Given the description of an element on the screen output the (x, y) to click on. 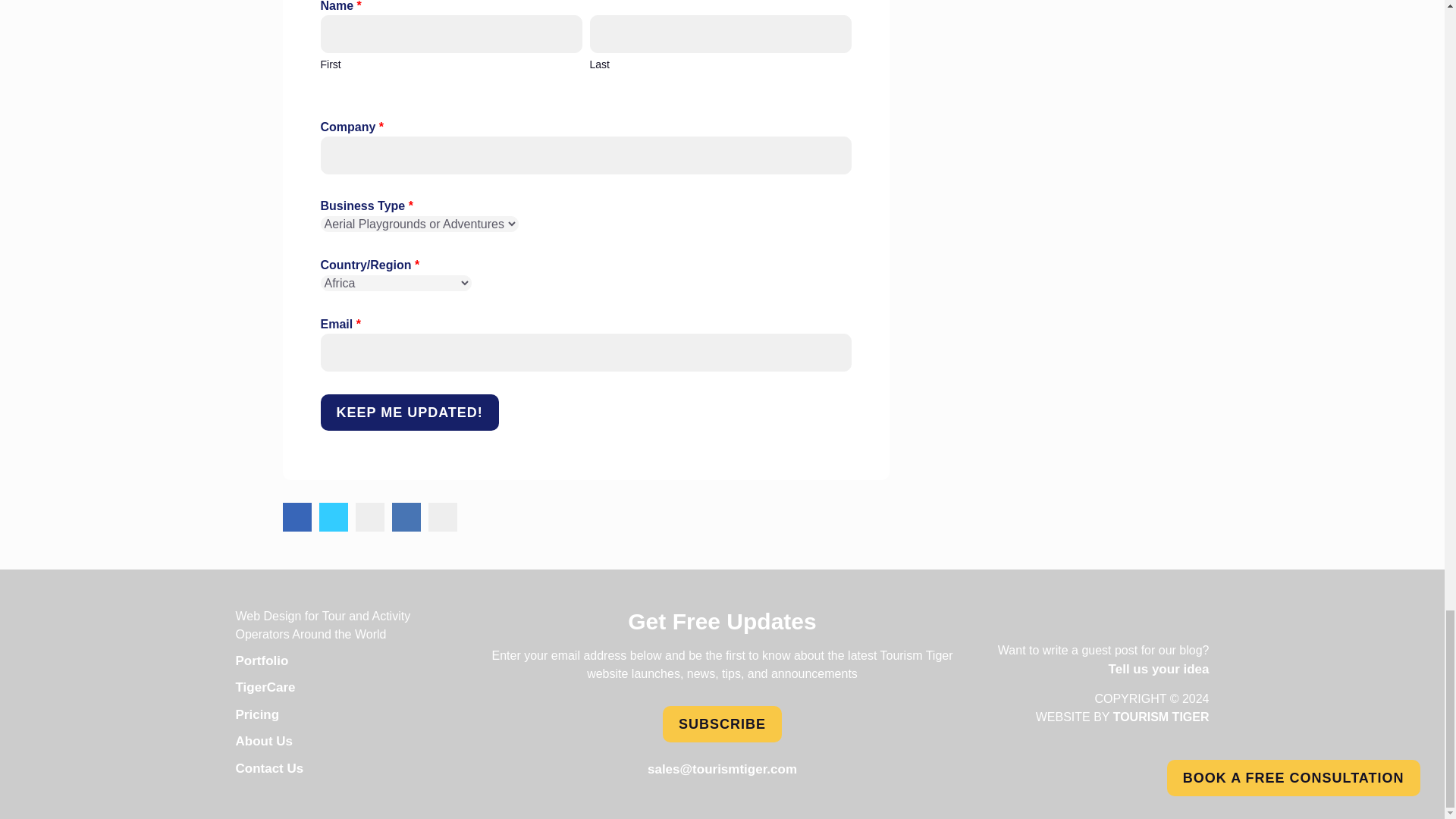
Share via twitter (332, 516)
KEEP ME UPDATED! (408, 411)
Share via linkedin (405, 516)
Share via facebook (296, 516)
Share via instagram (369, 516)
Share via google (442, 516)
